Given the description of an element on the screen output the (x, y) to click on. 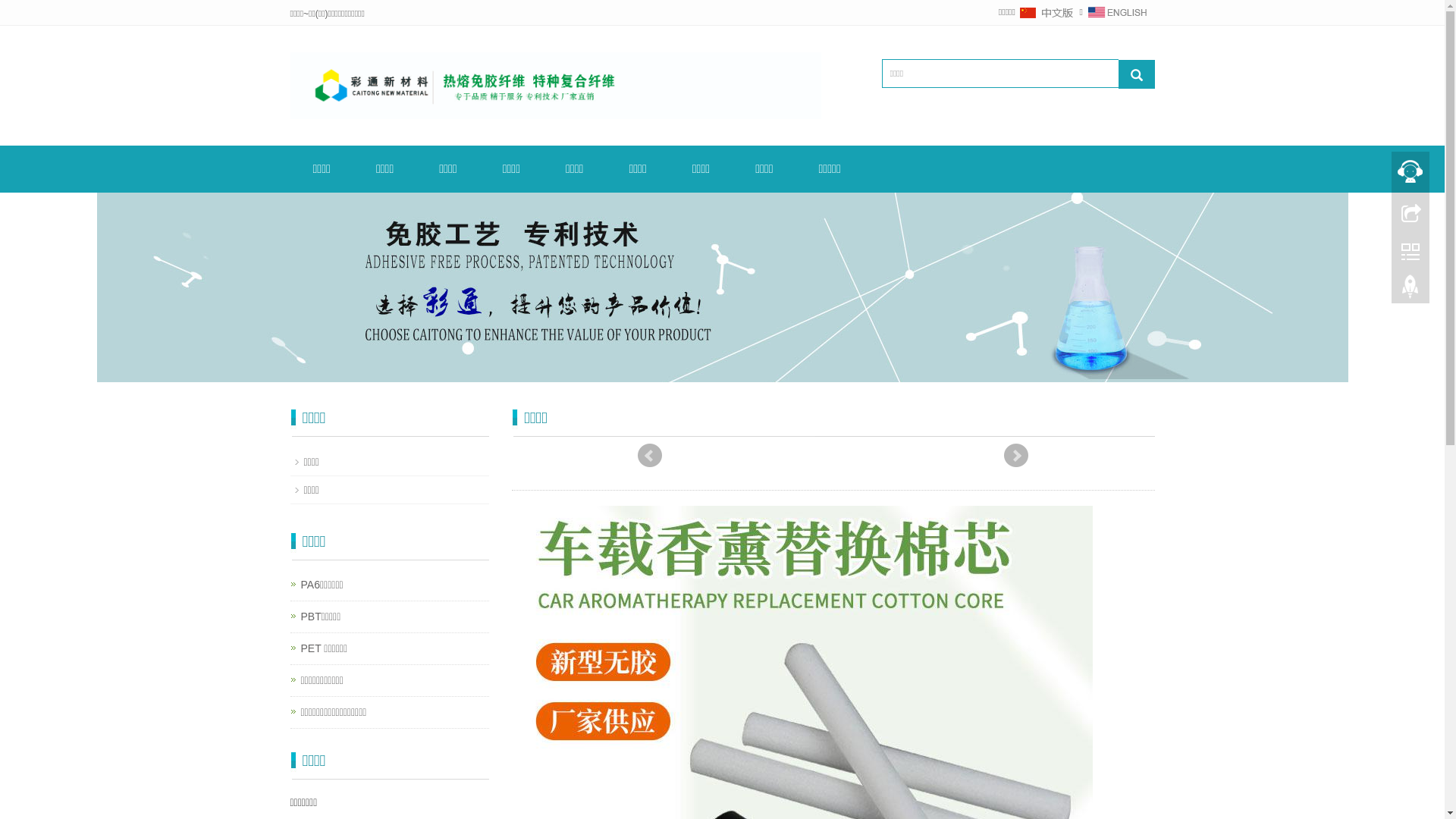
English Element type: hover (1116, 11)
Prev Element type: text (649, 455)
Next Element type: text (1016, 455)
